Given the description of an element on the screen output the (x, y) to click on. 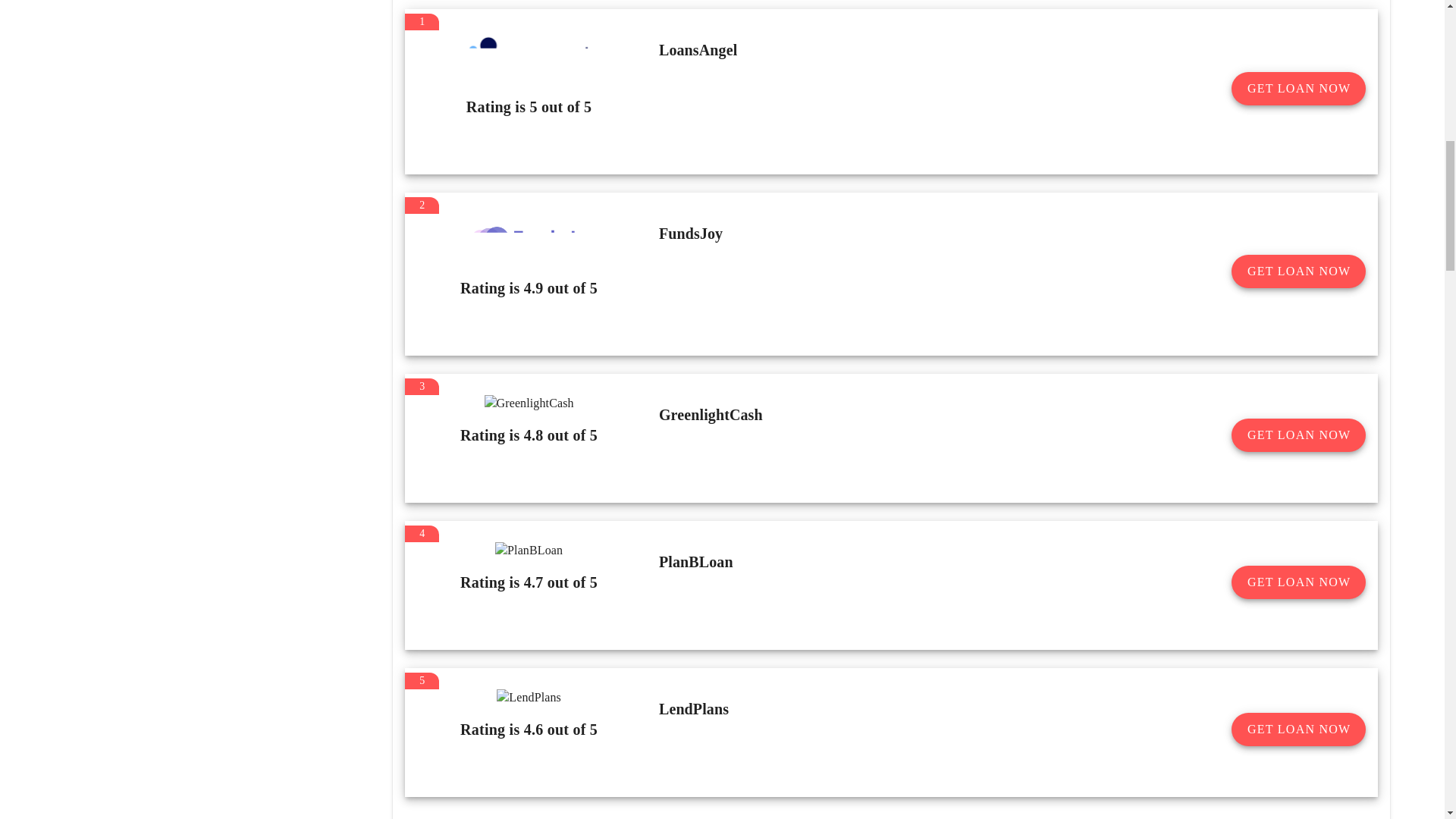
GET LOAN NOW (1298, 581)
GET LOAN NOW (1298, 729)
GET LOAN NOW (1298, 271)
GET LOAN NOW (1298, 435)
GET LOAN NOW (1298, 88)
